Given the description of an element on the screen output the (x, y) to click on. 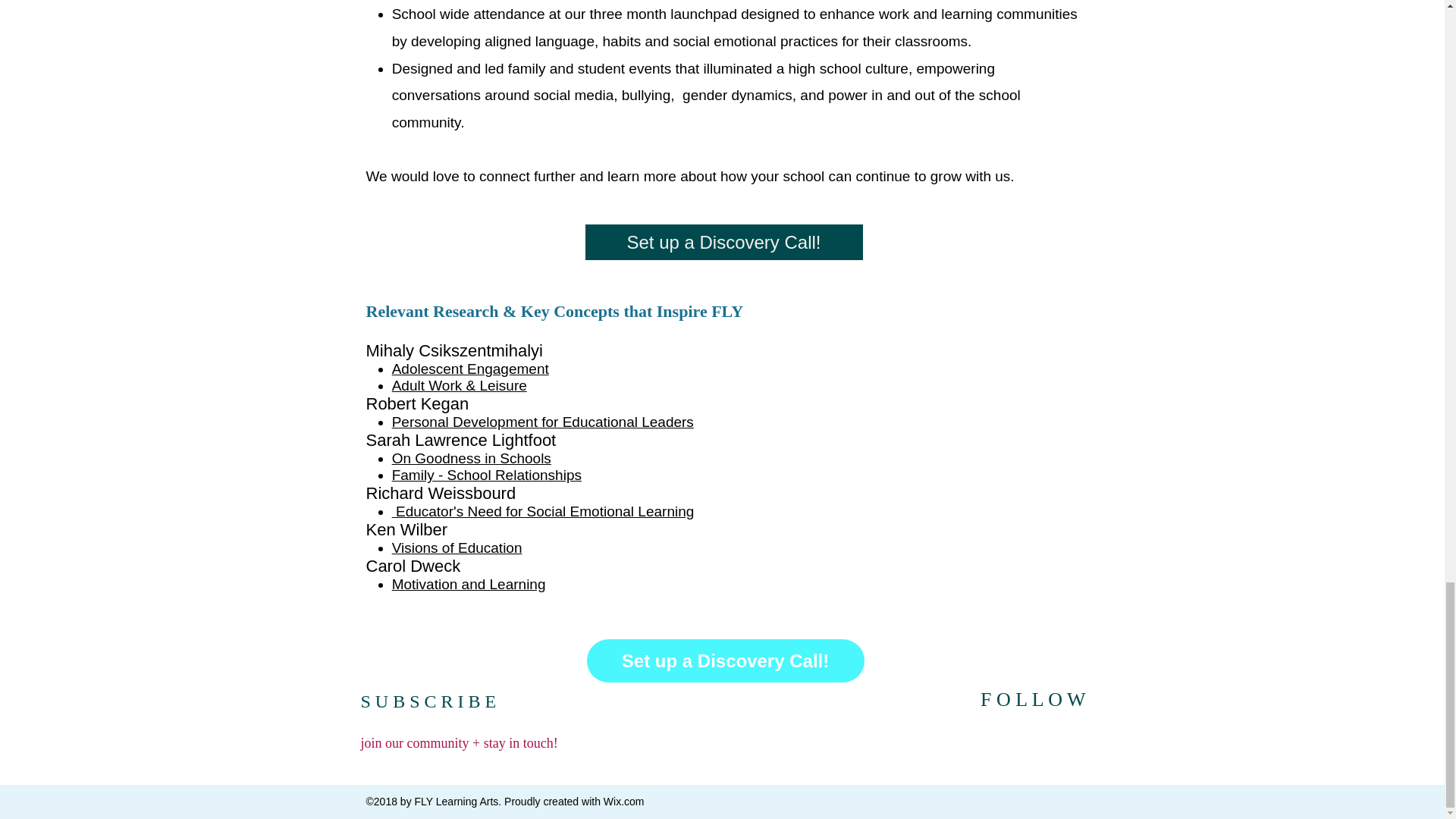
 Educator's Need for Social Emotional Learning (542, 511)
Personal Development for Educational Leaders (542, 421)
Adolescent Engagement (469, 368)
On Goodness in Schools (471, 458)
Set up a Discovery Call! (724, 242)
S U B S C R I B E (428, 701)
Visions of Education (456, 547)
Motivation and Learning (468, 584)
Family - School Relationships (485, 474)
Set up a Discovery Call! (725, 660)
